Given the description of an element on the screen output the (x, y) to click on. 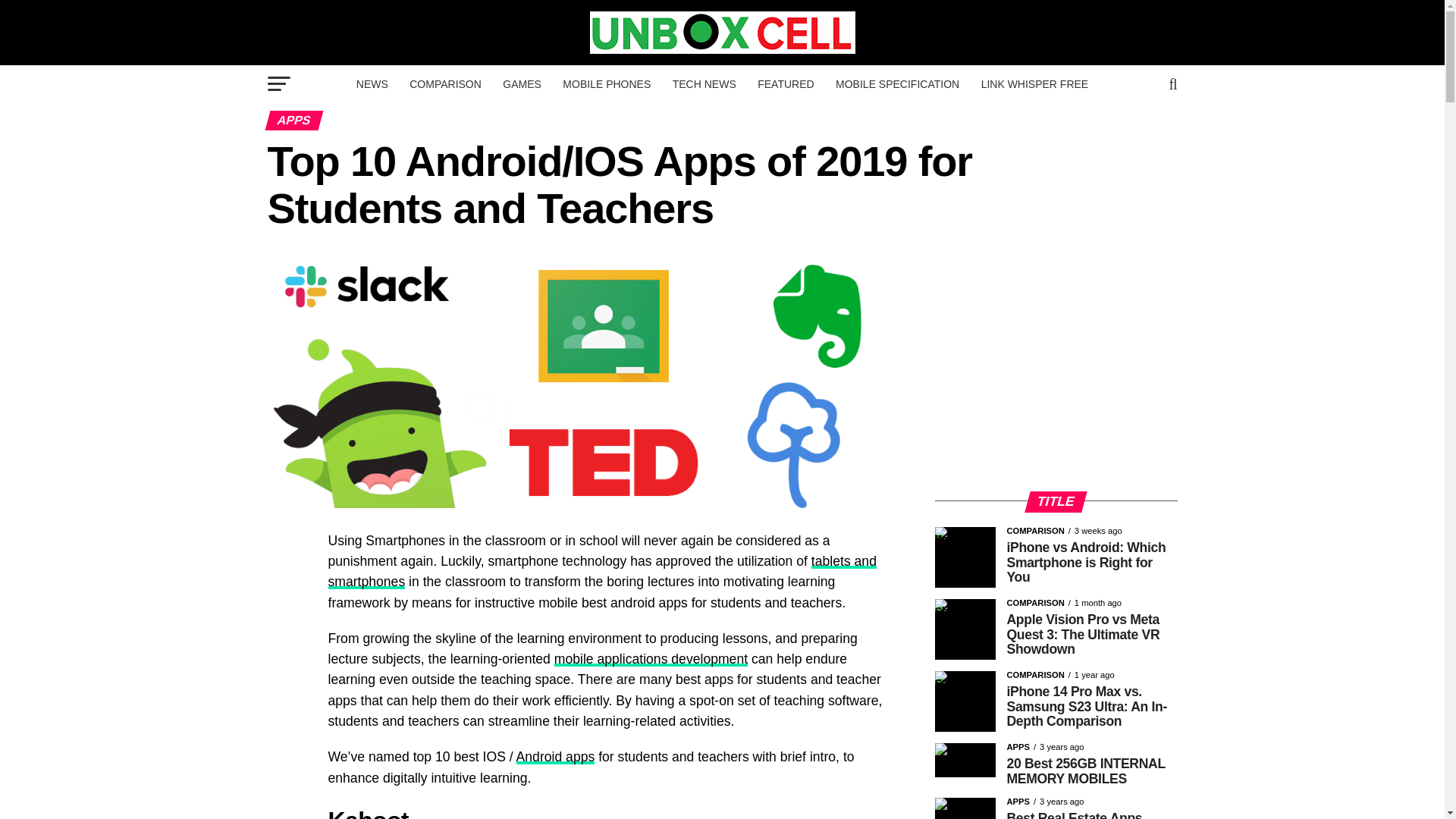
FEATURED (785, 84)
NEWS (372, 84)
GAMES (521, 84)
COMPARISON (445, 84)
MOBILE PHONES (606, 84)
TECH NEWS (704, 84)
